Given the description of an element on the screen output the (x, y) to click on. 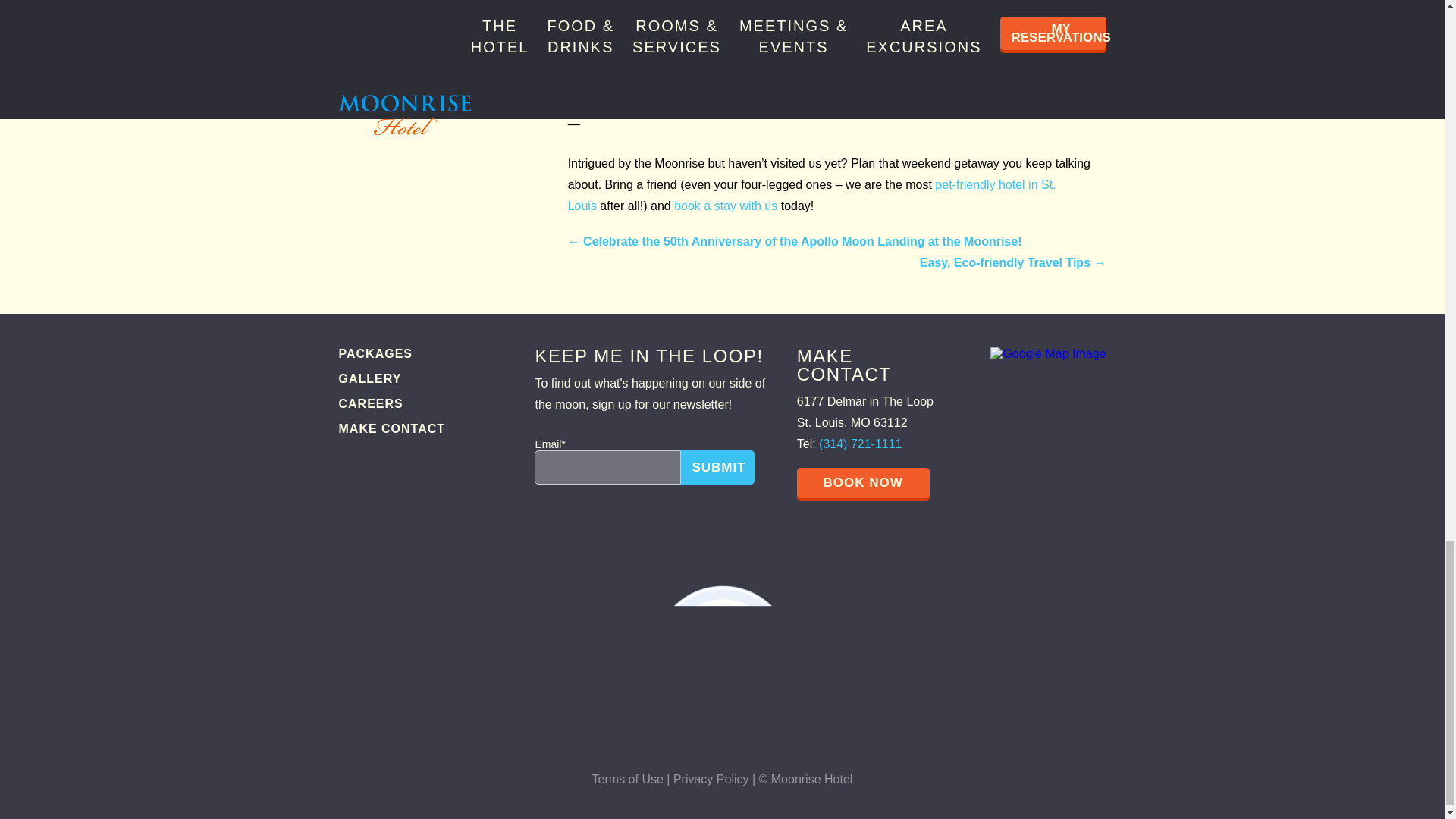
Submit (717, 467)
